Given the description of an element on the screen output the (x, y) to click on. 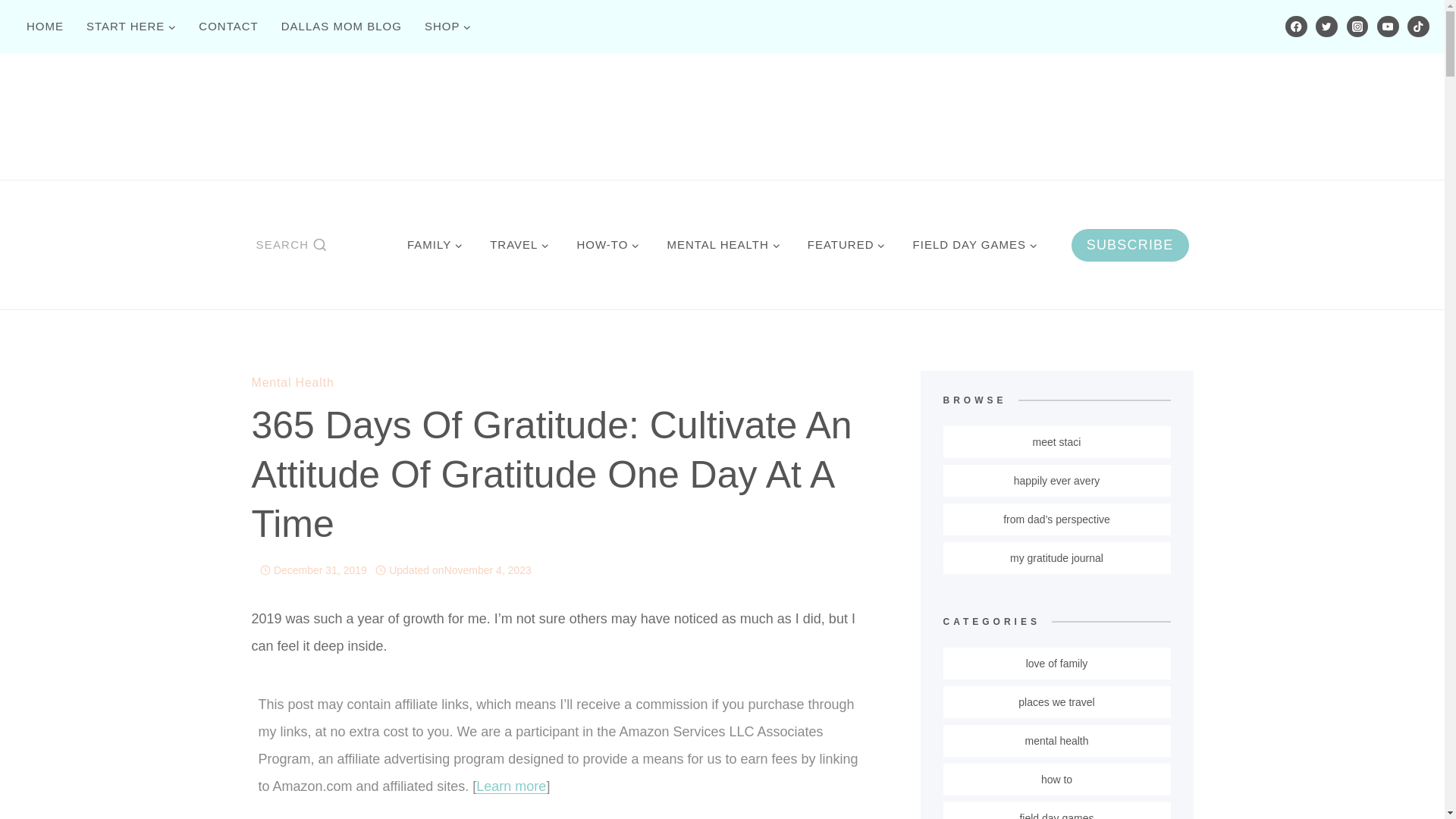
CONTACT (228, 26)
SHOP (448, 26)
TRAVEL (519, 244)
HOW-TO (607, 244)
SEARCH (291, 244)
DALLAS MOM BLOG (341, 26)
FAMILY (434, 244)
HOME (44, 26)
START HERE (131, 26)
